Given the description of an element on the screen output the (x, y) to click on. 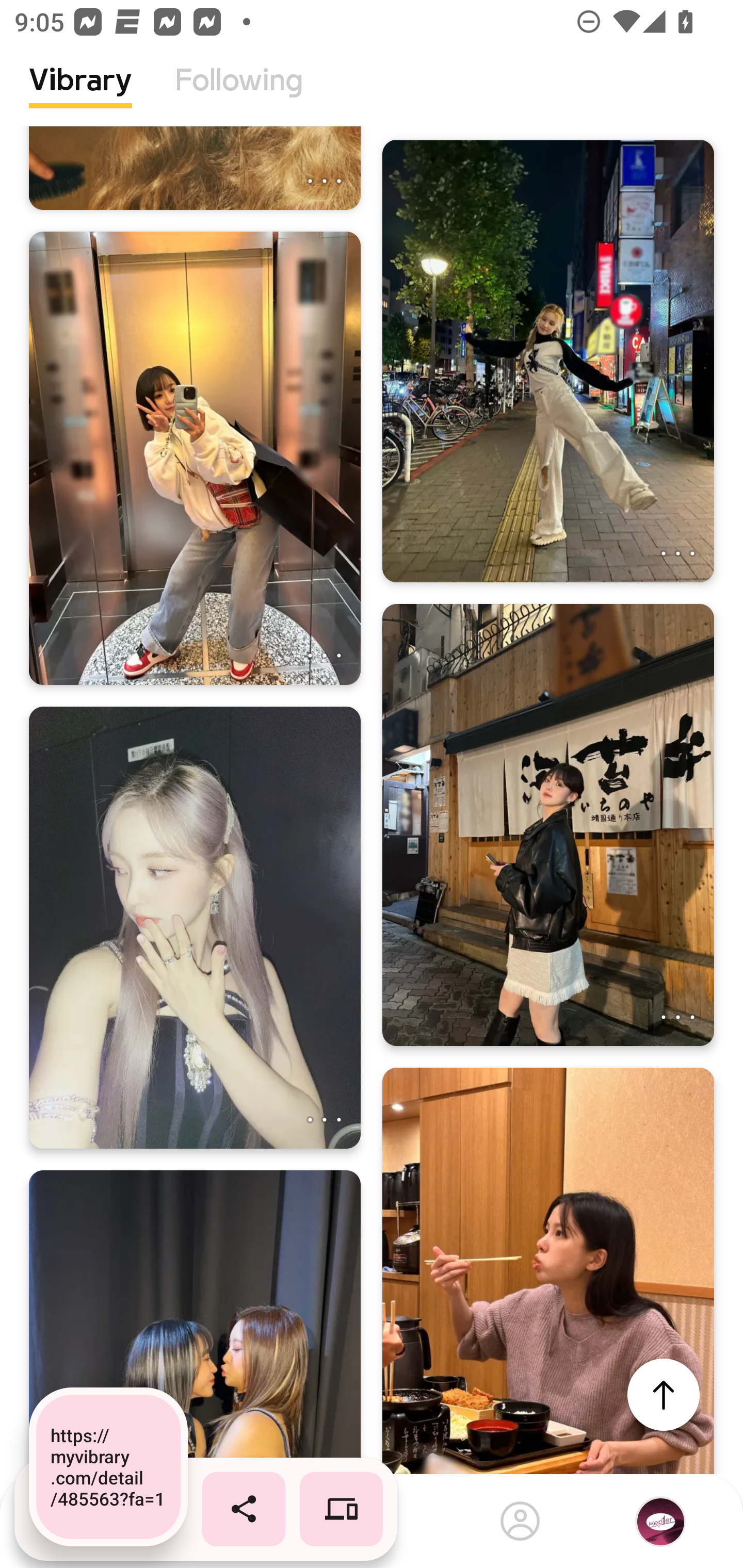
Vibrary (80, 95)
Following (239, 95)
